Given the description of an element on the screen output the (x, y) to click on. 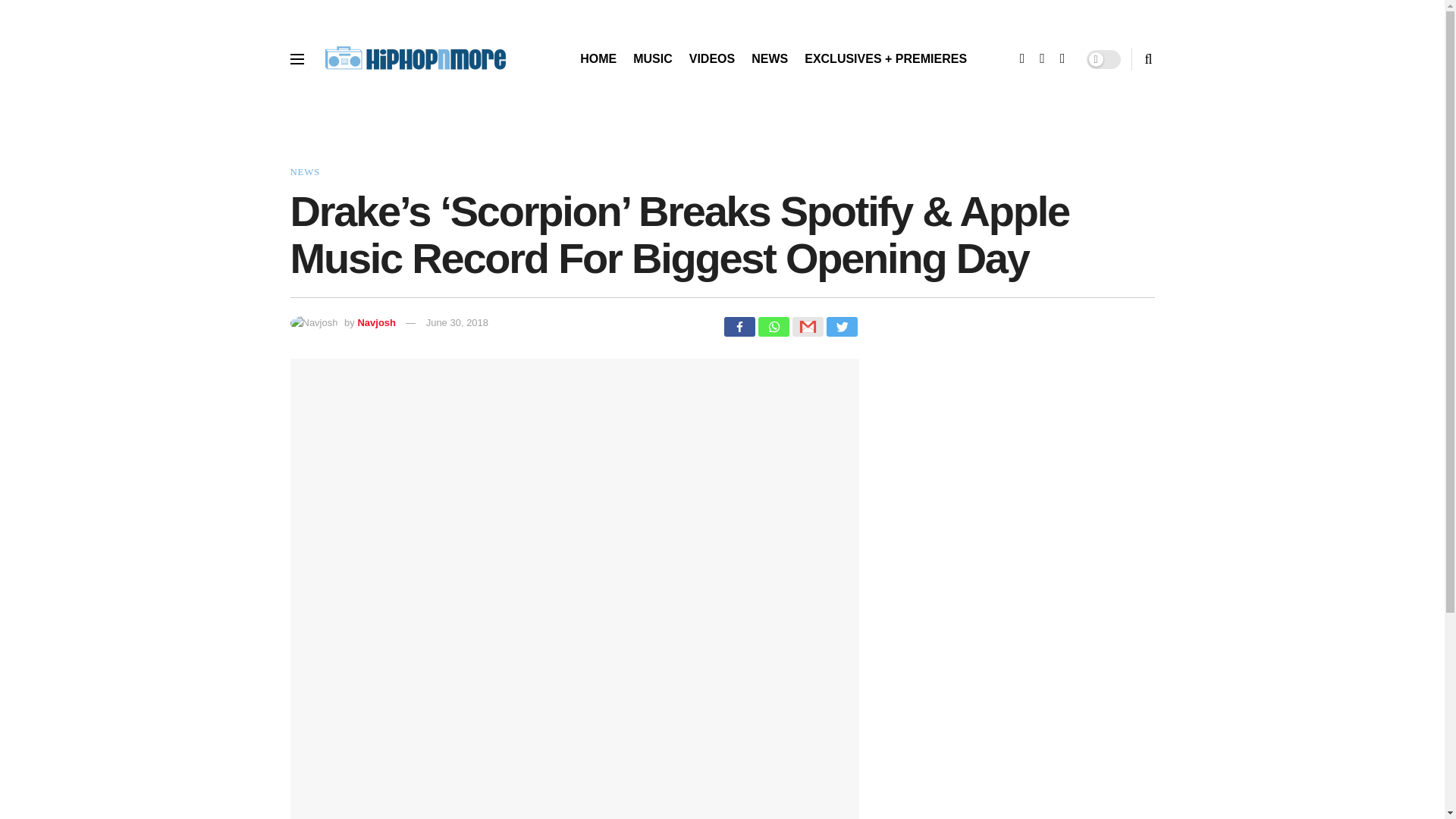
VIDEOS (711, 58)
NEWS (769, 58)
Twitter (842, 326)
June 30, 2018 (456, 322)
HOME (597, 58)
Whatsapp (773, 326)
Google Gmail (807, 326)
Facebook (738, 326)
Navjosh (376, 322)
MUSIC (652, 58)
NEWS (303, 171)
